Given the description of an element on the screen output the (x, y) to click on. 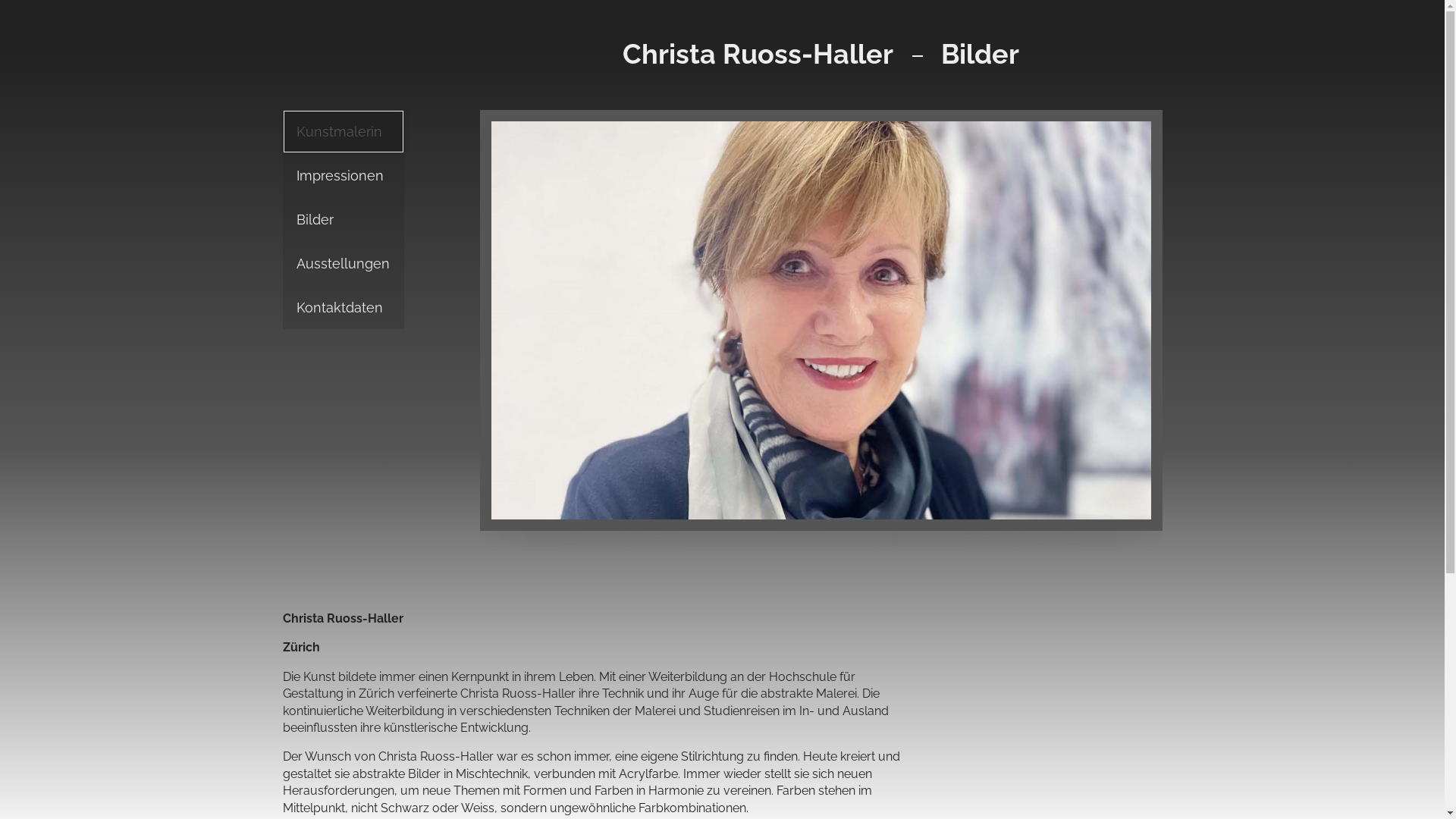
Kunstmalerin Element type: text (342, 131)
Impressionen Element type: text (342, 175)
Bilder Element type: text (342, 219)
Kontaktdaten Element type: text (342, 307)
Ausstellungen Element type: text (342, 263)
